Given the description of an element on the screen output the (x, y) to click on. 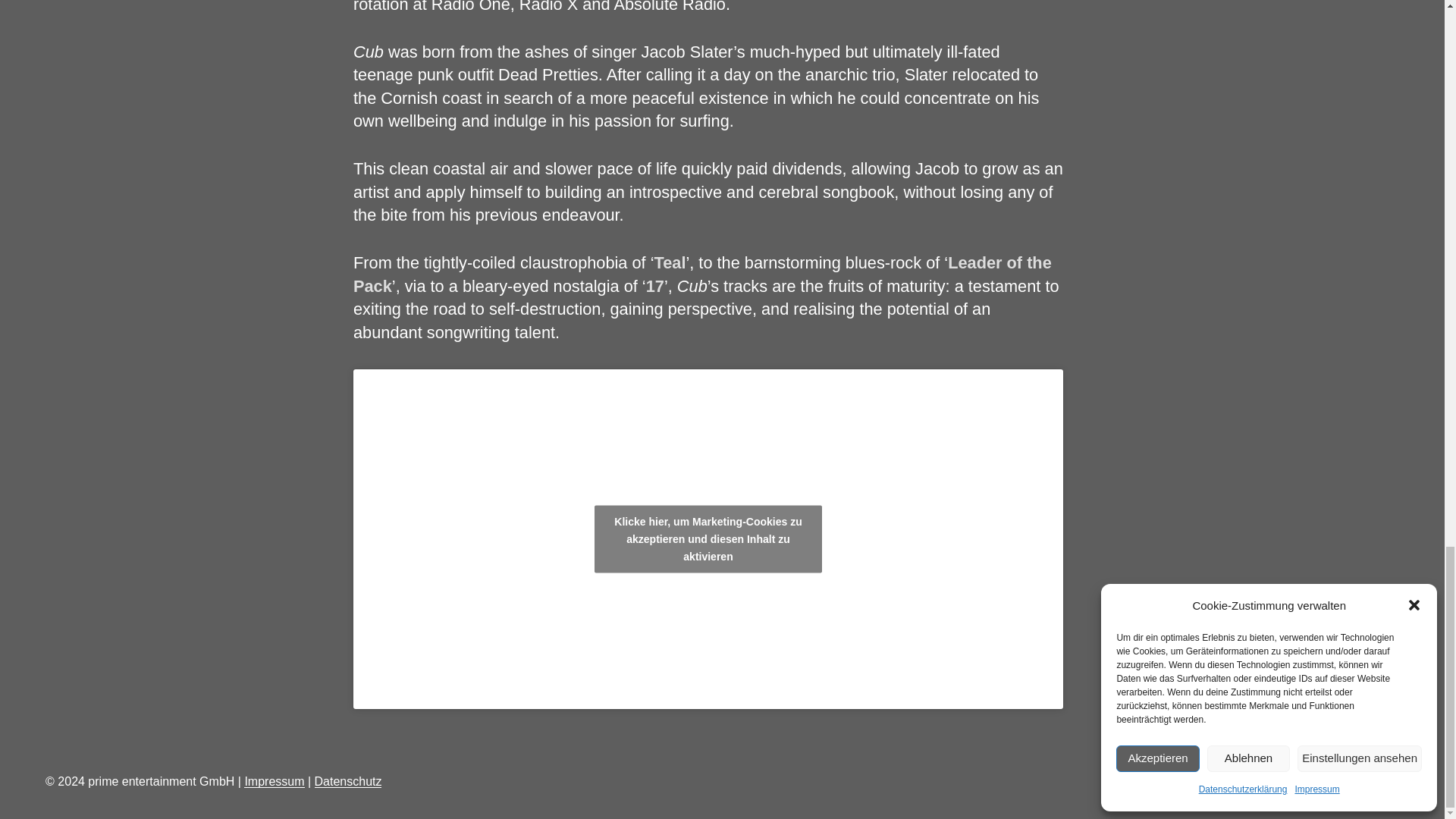
Leader of the Pack (702, 273)
Teal (669, 262)
Impressum (274, 780)
Datenschutz (347, 780)
17 (654, 285)
